Given the description of an element on the screen output the (x, y) to click on. 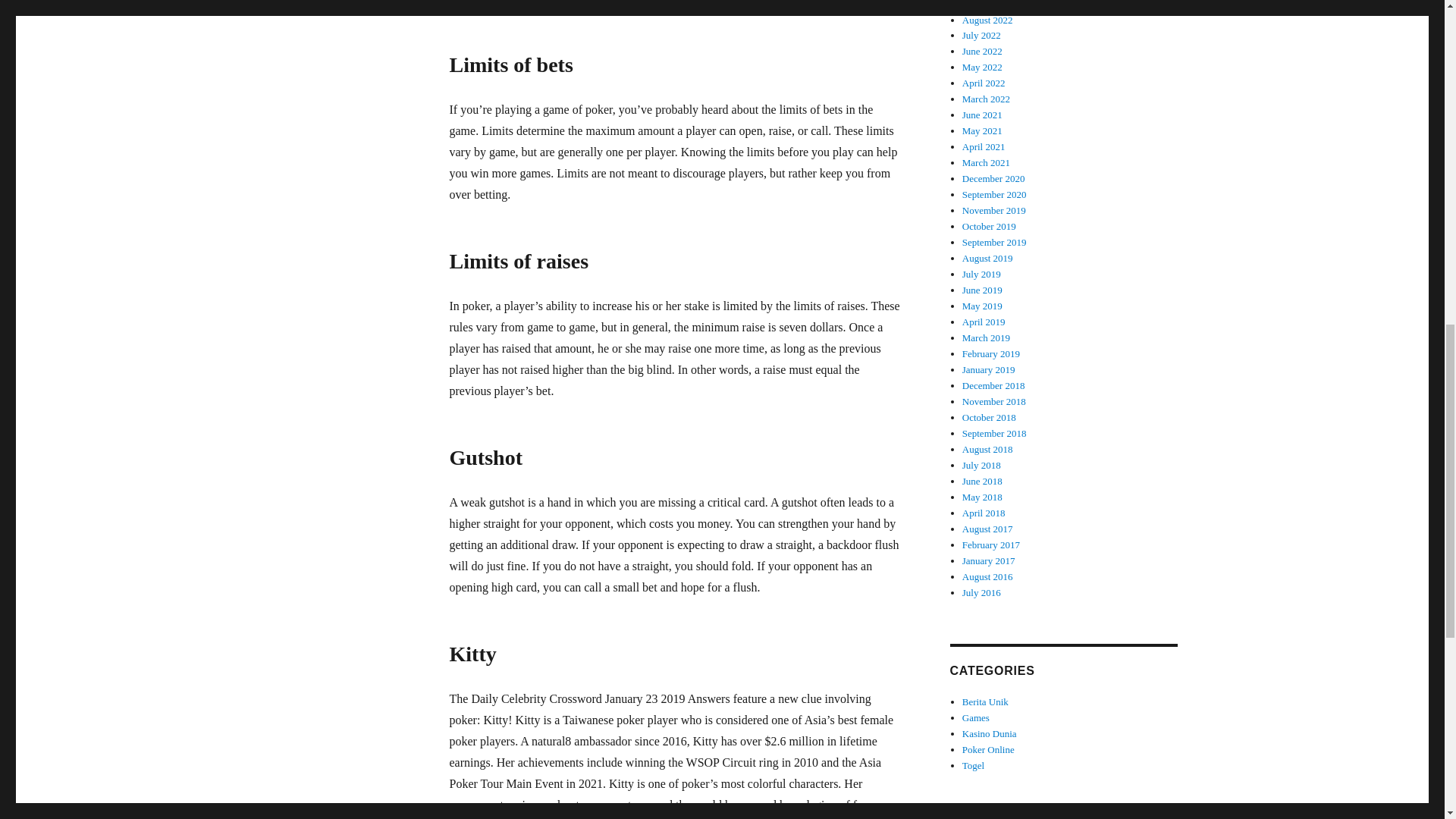
Games (976, 717)
Berita Unik (985, 701)
September 2022 (994, 4)
